Given the description of an element on the screen output the (x, y) to click on. 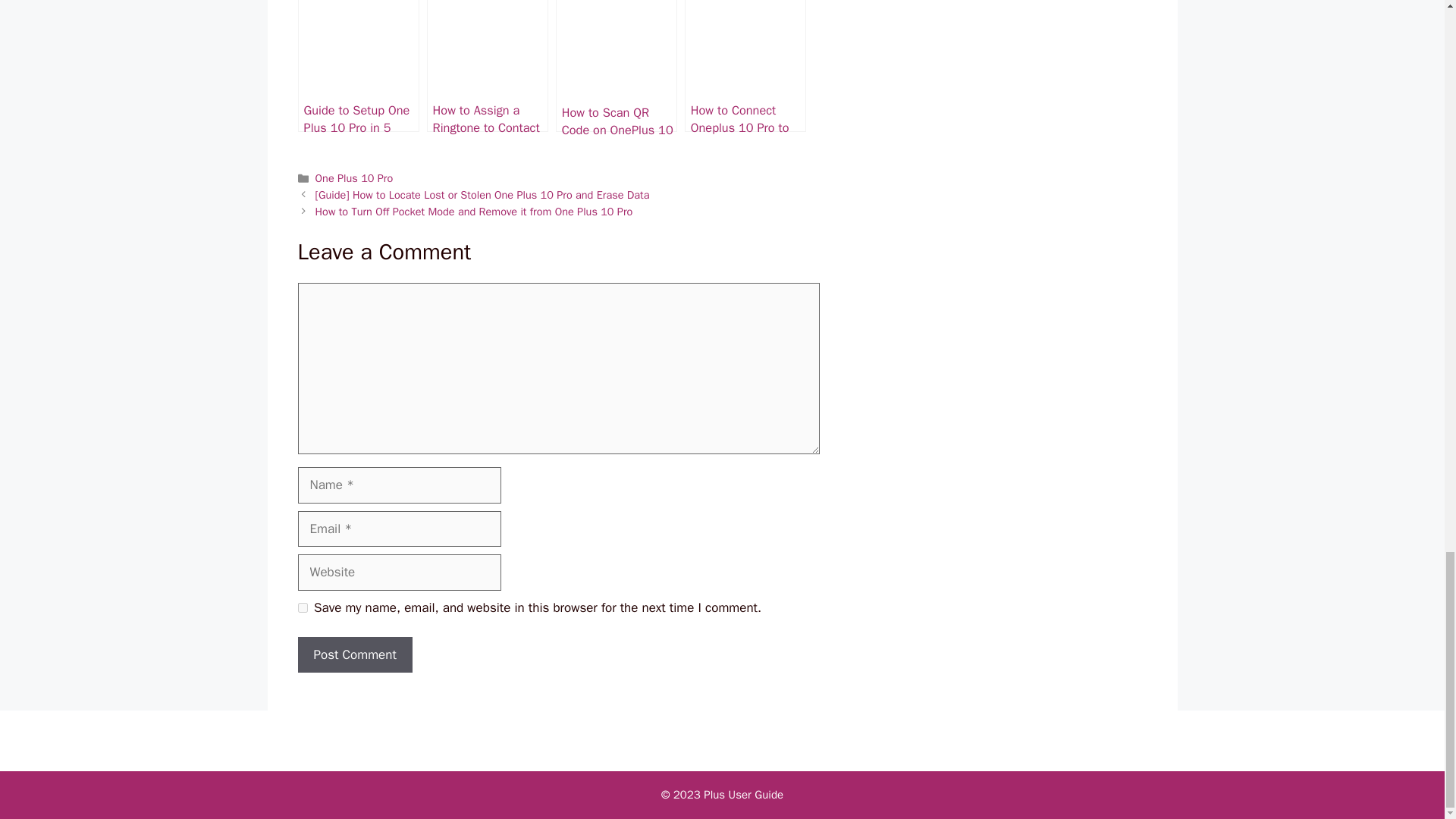
Guide to Setup One Plus 10 Pro in 5 minutes (358, 65)
Guide to Setup One Plus 10 Pro in 5 minutes (358, 65)
How to Scan QR Code on OnePlus 10 PRO (616, 65)
Post Comment (354, 655)
Post Comment (354, 655)
yes (302, 607)
Previous (482, 194)
